Given the description of an element on the screen output the (x, y) to click on. 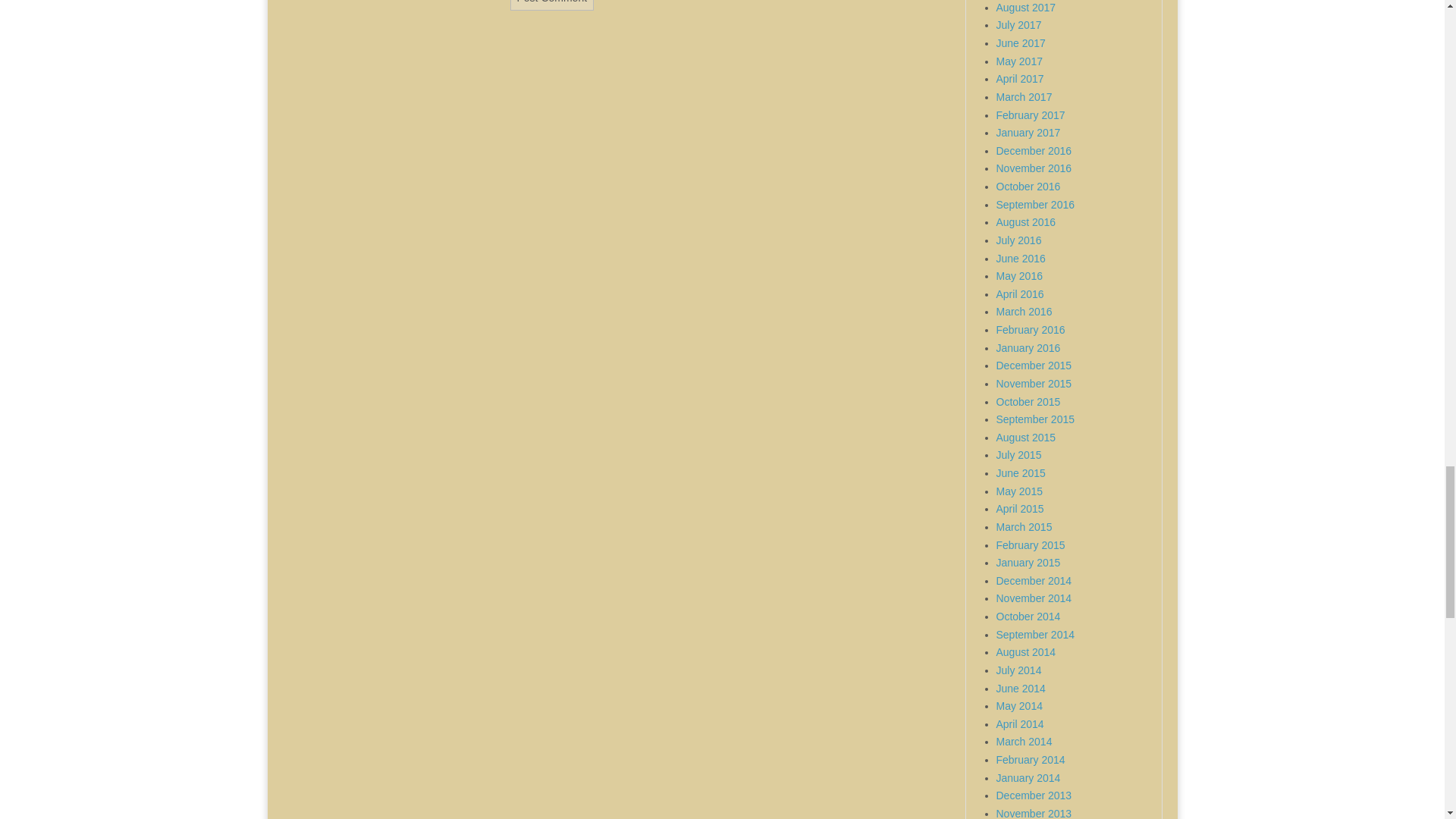
Post Comment (551, 5)
Post Comment (551, 5)
